Given the description of an element on the screen output the (x, y) to click on. 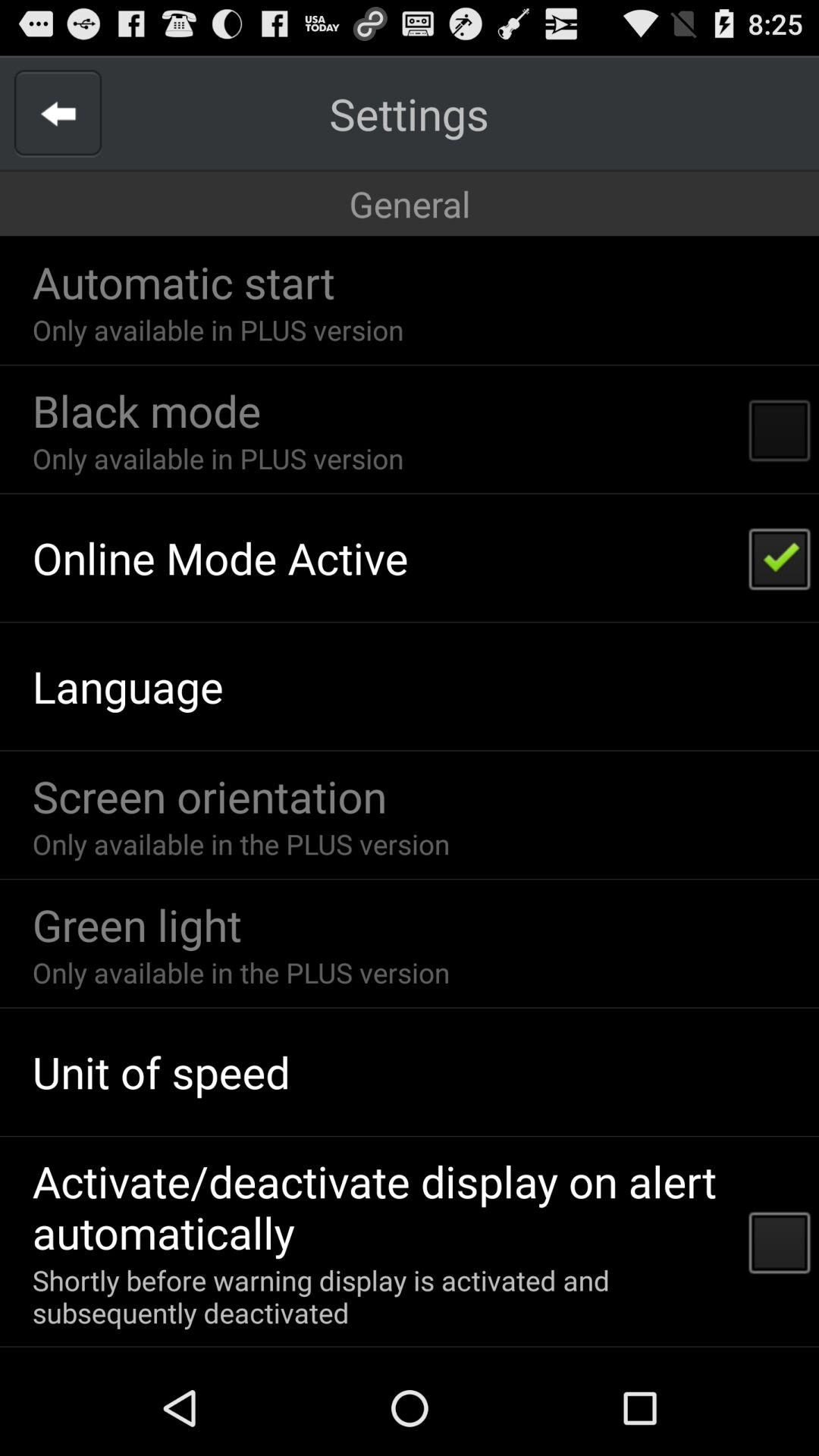
launch the icon above the language (220, 557)
